Given the description of an element on the screen output the (x, y) to click on. 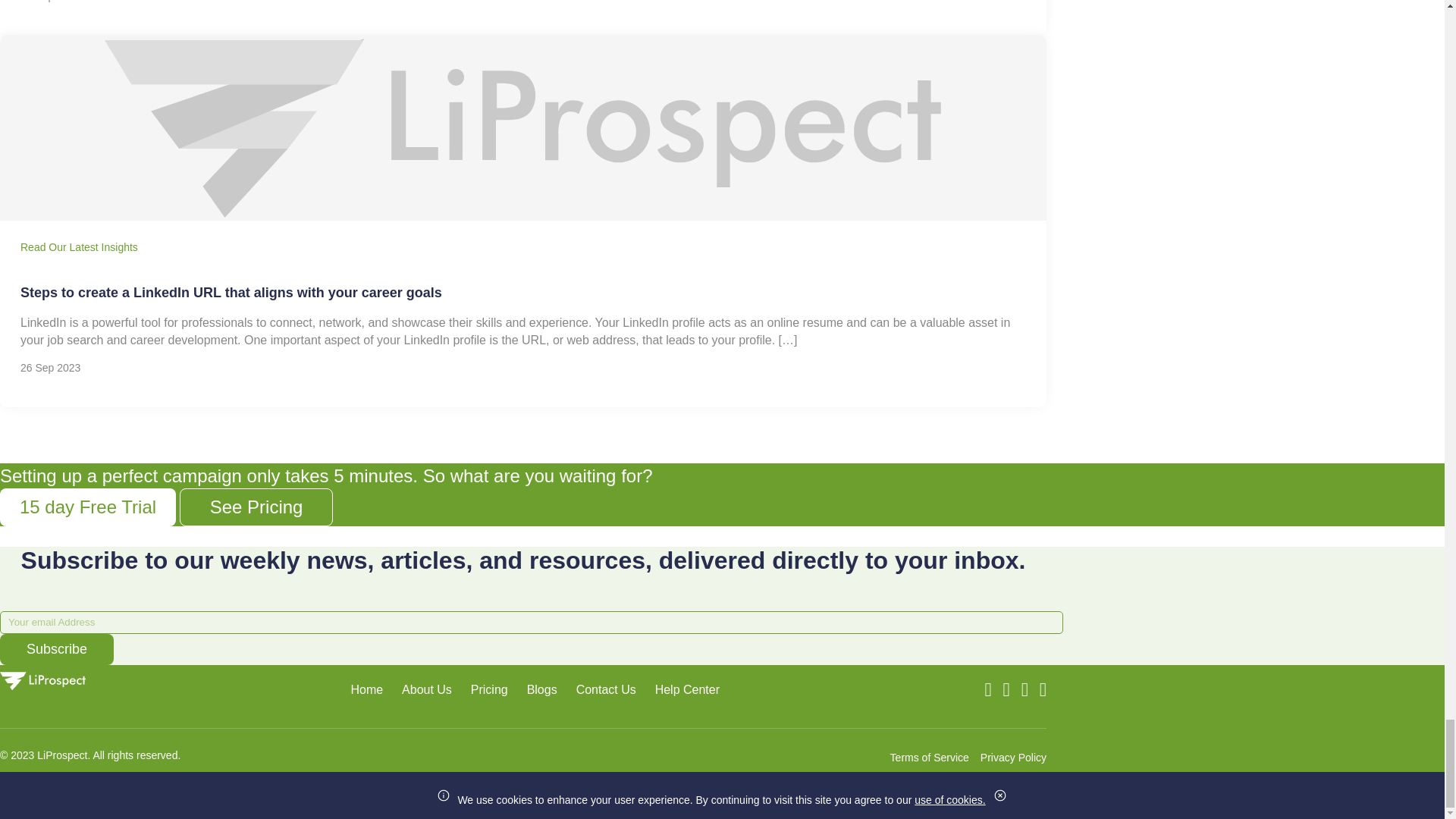
15 day Free Trial (88, 507)
Pricing (489, 689)
Subscribe (56, 649)
Help Center (687, 689)
Contact Us (606, 689)
Blogs (542, 689)
Home (366, 689)
See Pricing (256, 507)
Read Our Latest Insights (79, 246)
About Us (426, 689)
